Given the description of an element on the screen output the (x, y) to click on. 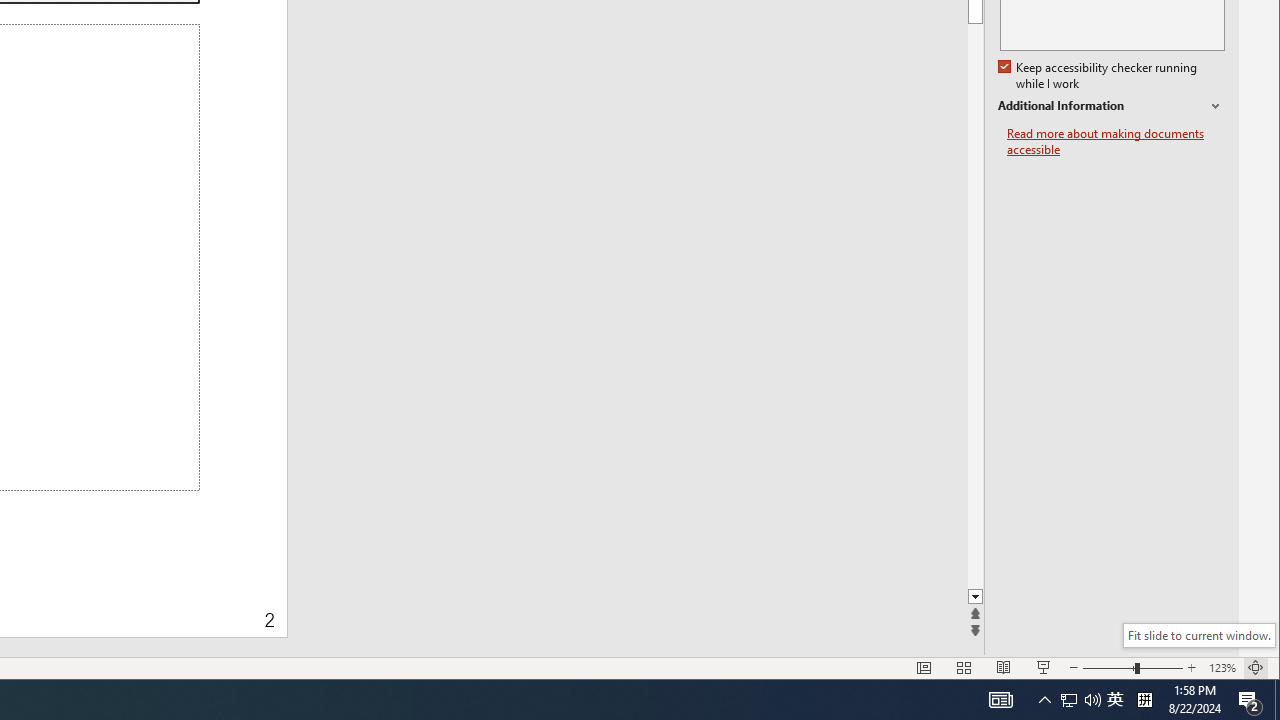
Zoom 123% (1222, 668)
Additional Information (1111, 106)
Fit slide to current window. (1199, 635)
Keep accessibility checker running while I work (1099, 76)
